Given the description of an element on the screen output the (x, y) to click on. 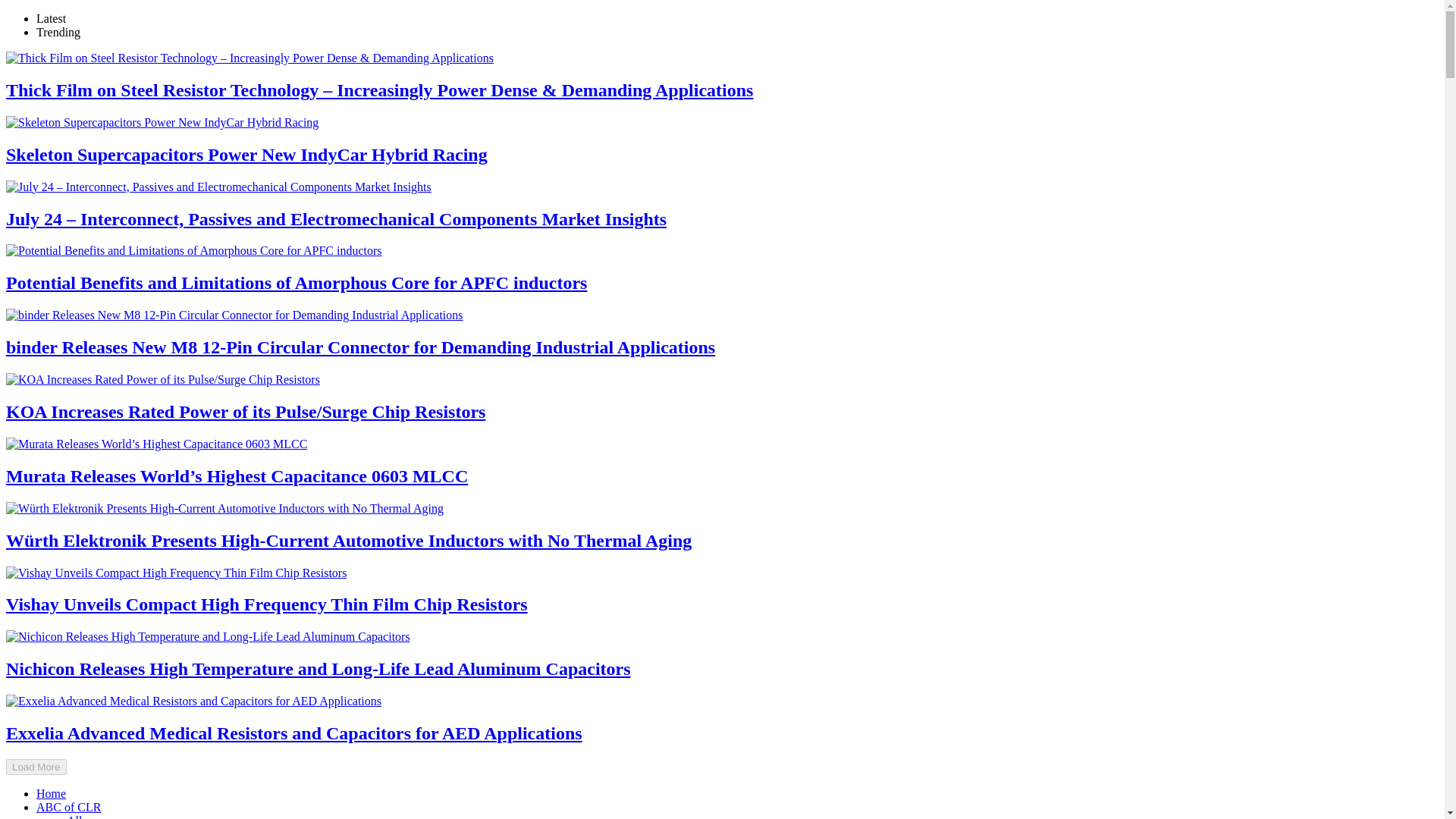
Home (50, 793)
ABC of CLR (68, 807)
